Given the description of an element on the screen output the (x, y) to click on. 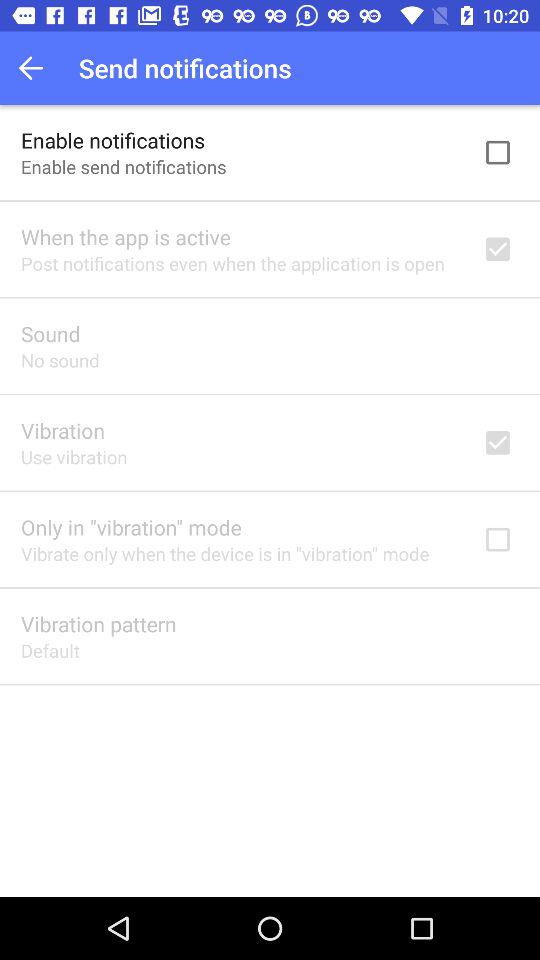
choose the app below the when the app app (232, 263)
